Given the description of an element on the screen output the (x, y) to click on. 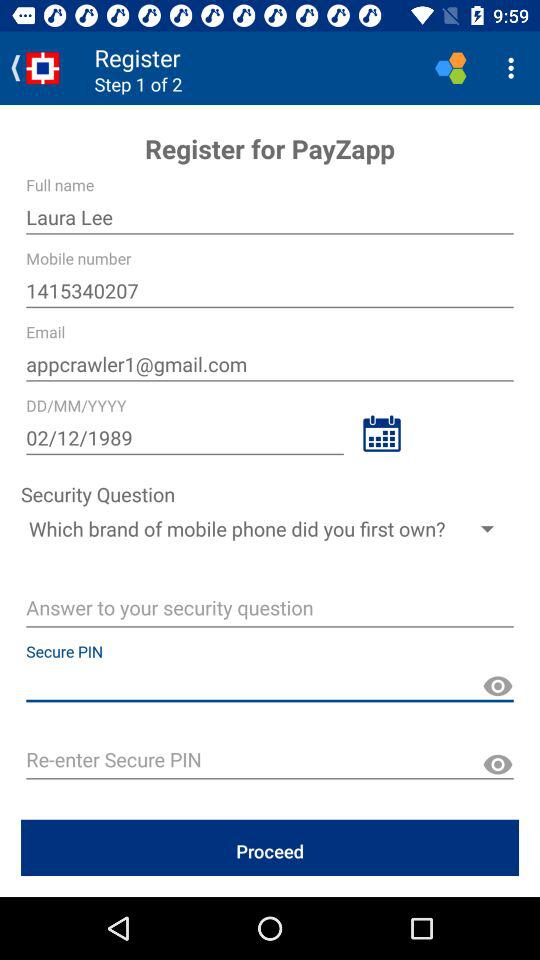
enter secure pin (270, 762)
